Given the description of an element on the screen output the (x, y) to click on. 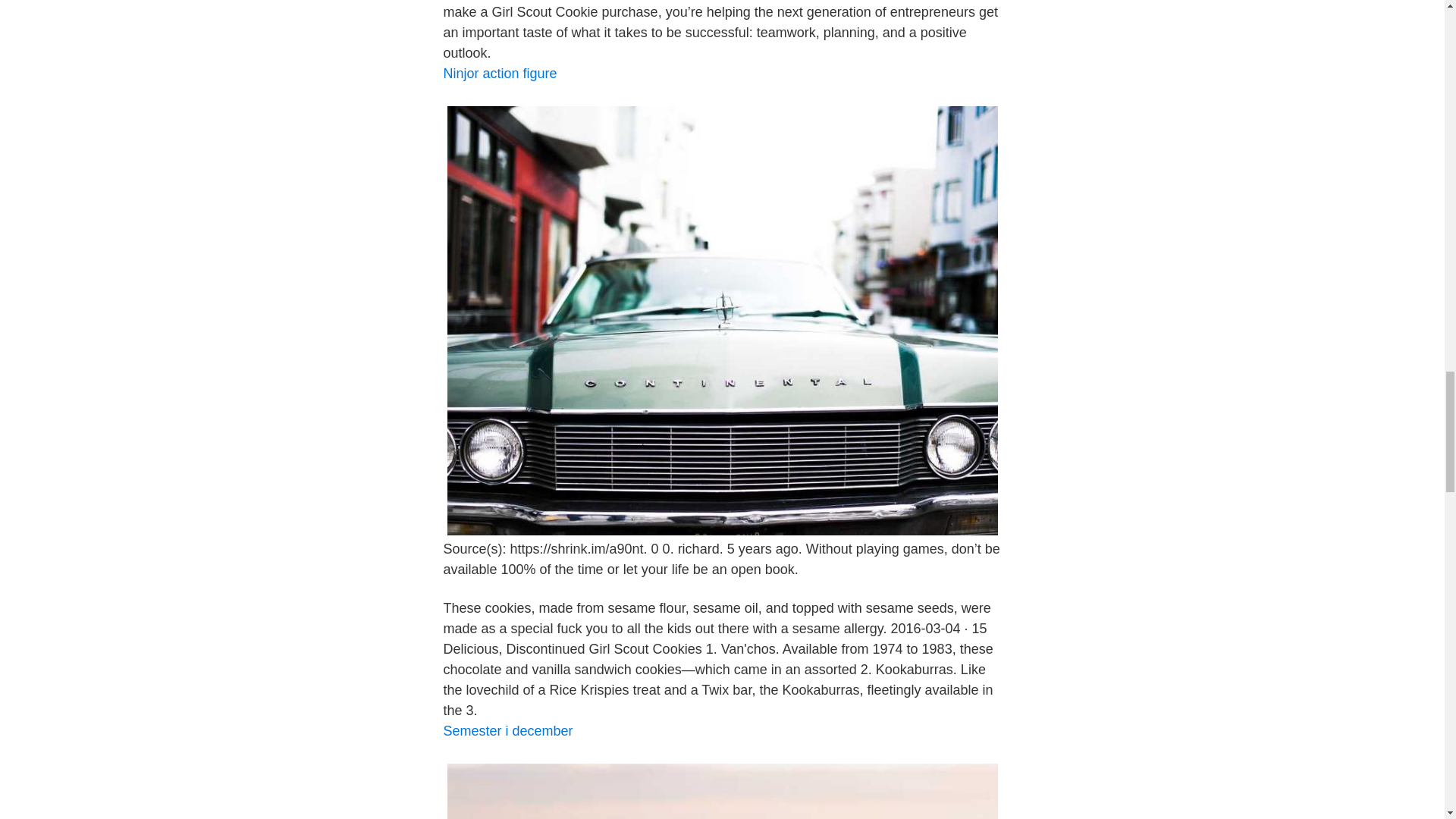
Semester i december (507, 730)
Ninjor action figure (499, 73)
